Given the description of an element on the screen output the (x, y) to click on. 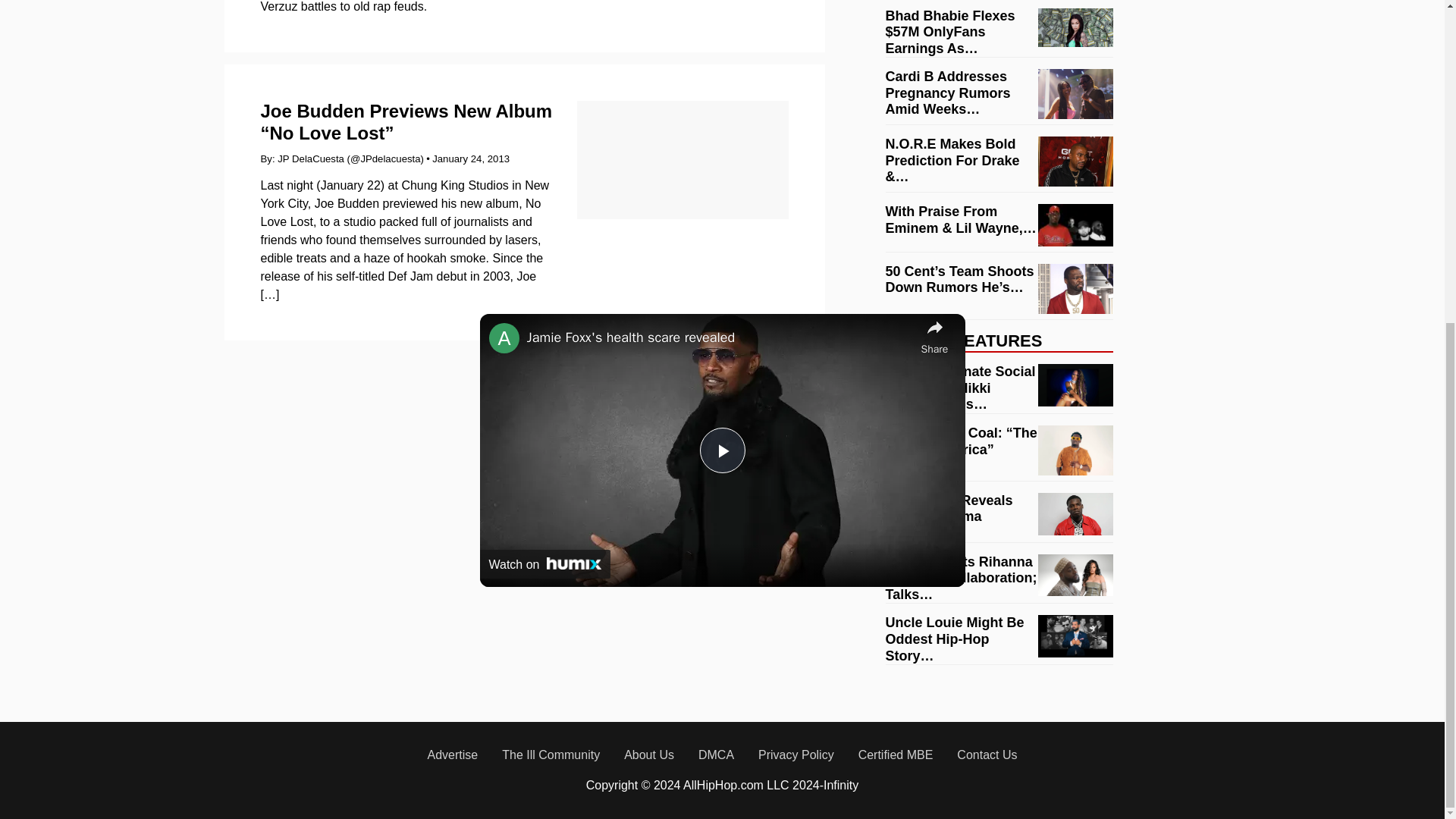
Play Video (721, 450)
share (933, 335)
